Given the description of an element on the screen output the (x, y) to click on. 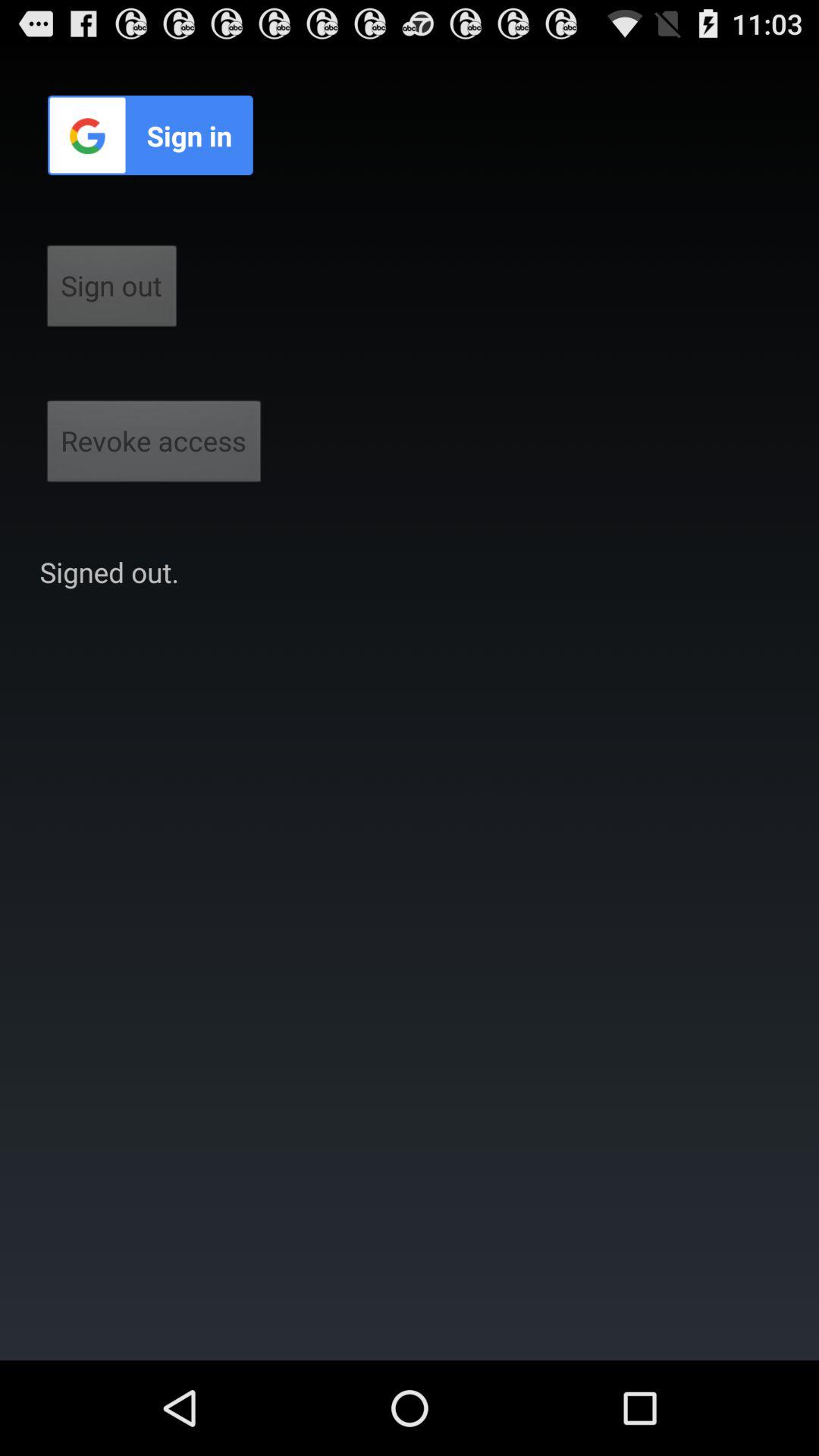
jump until the sign out button (111, 290)
